Given the description of an element on the screen output the (x, y) to click on. 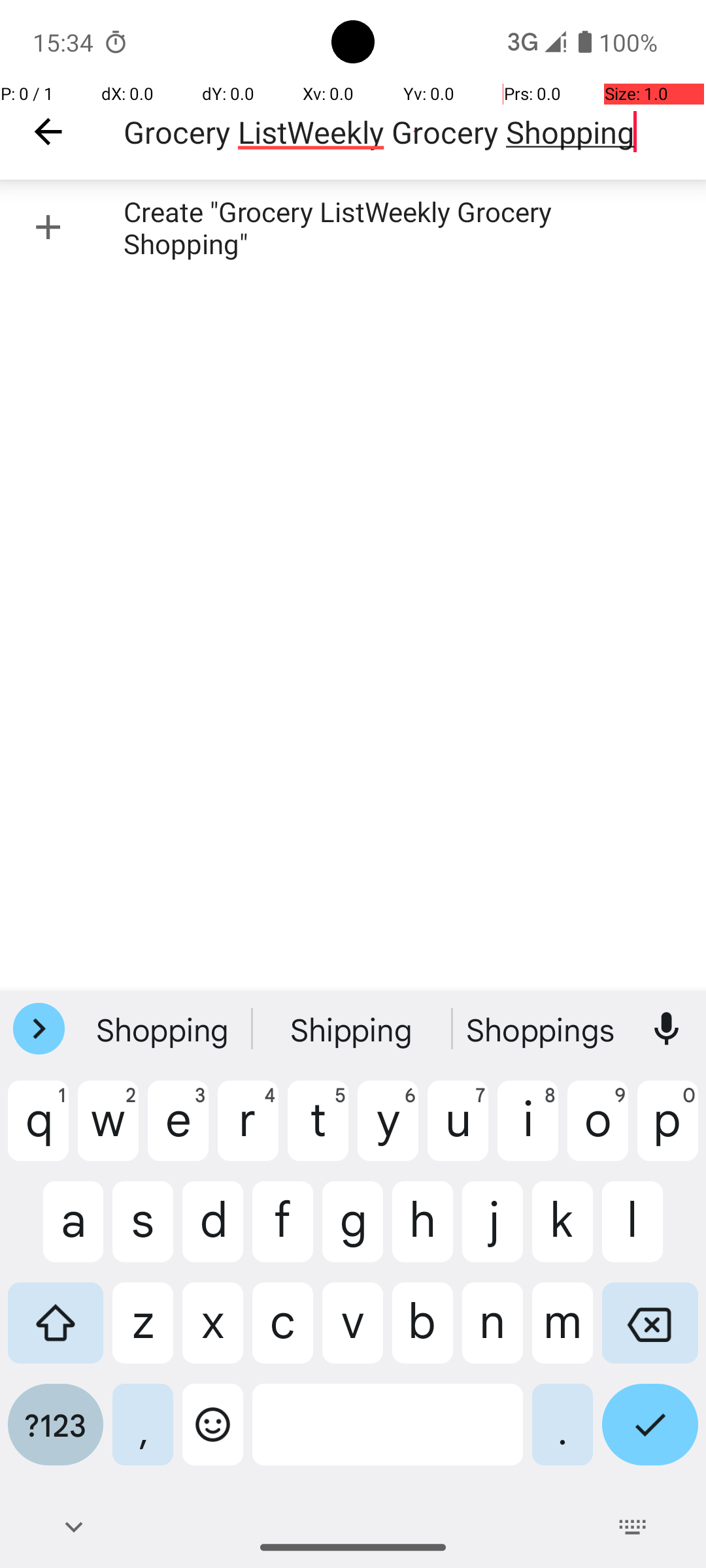
Grocery ListWeekly Grocery Shopping Element type: android.widget.EditText (414, 131)
Create "Grocery ListWeekly Grocery Shopping" Element type: android.widget.TextView (353, 226)
Shopping Element type: android.widget.FrameLayout (163, 1028)
Shoppings Element type: android.widget.FrameLayout (541, 1028)
